Given the description of an element on the screen output the (x, y) to click on. 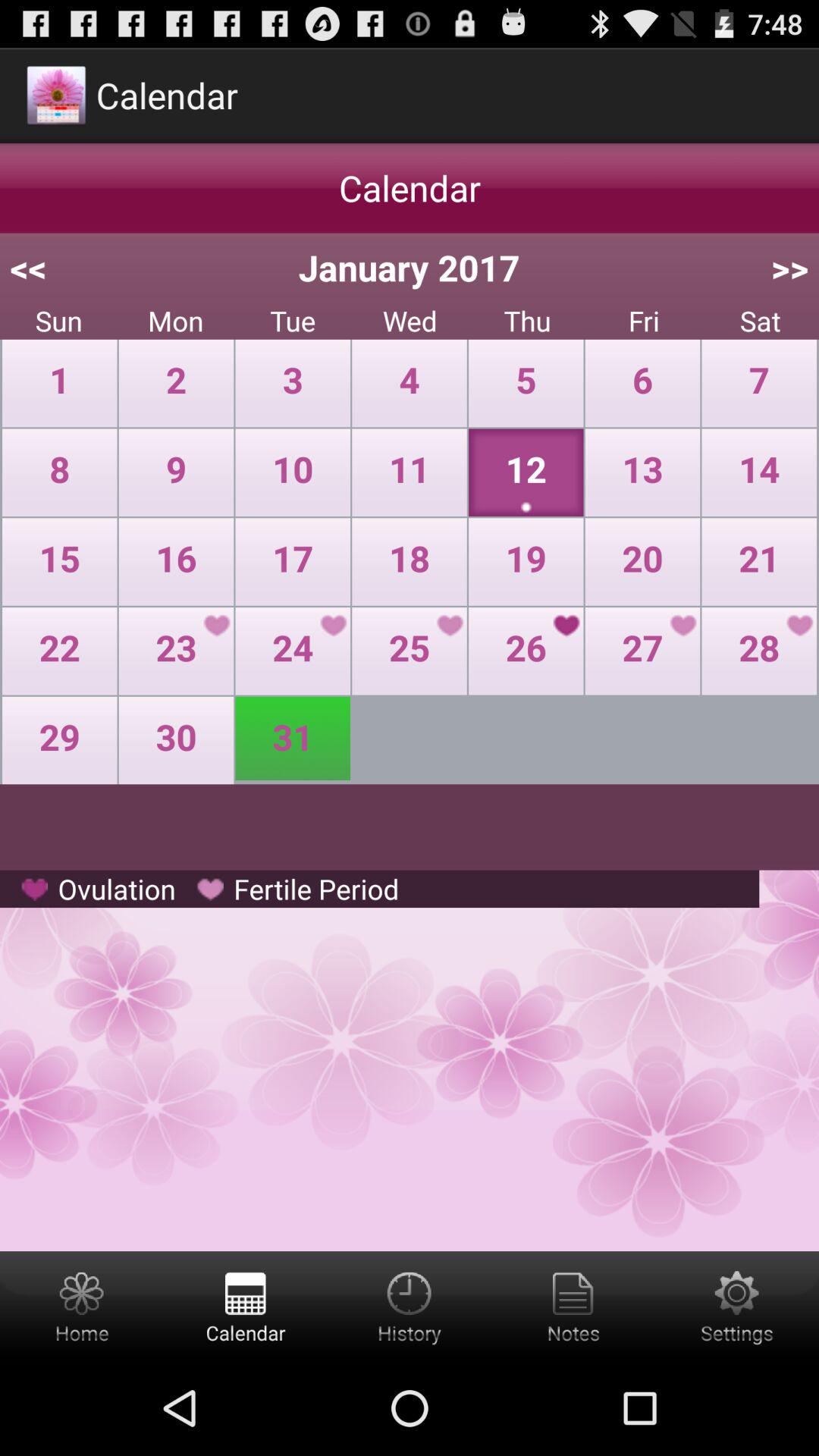
access calendar (245, 1305)
